Given the description of an element on the screen output the (x, y) to click on. 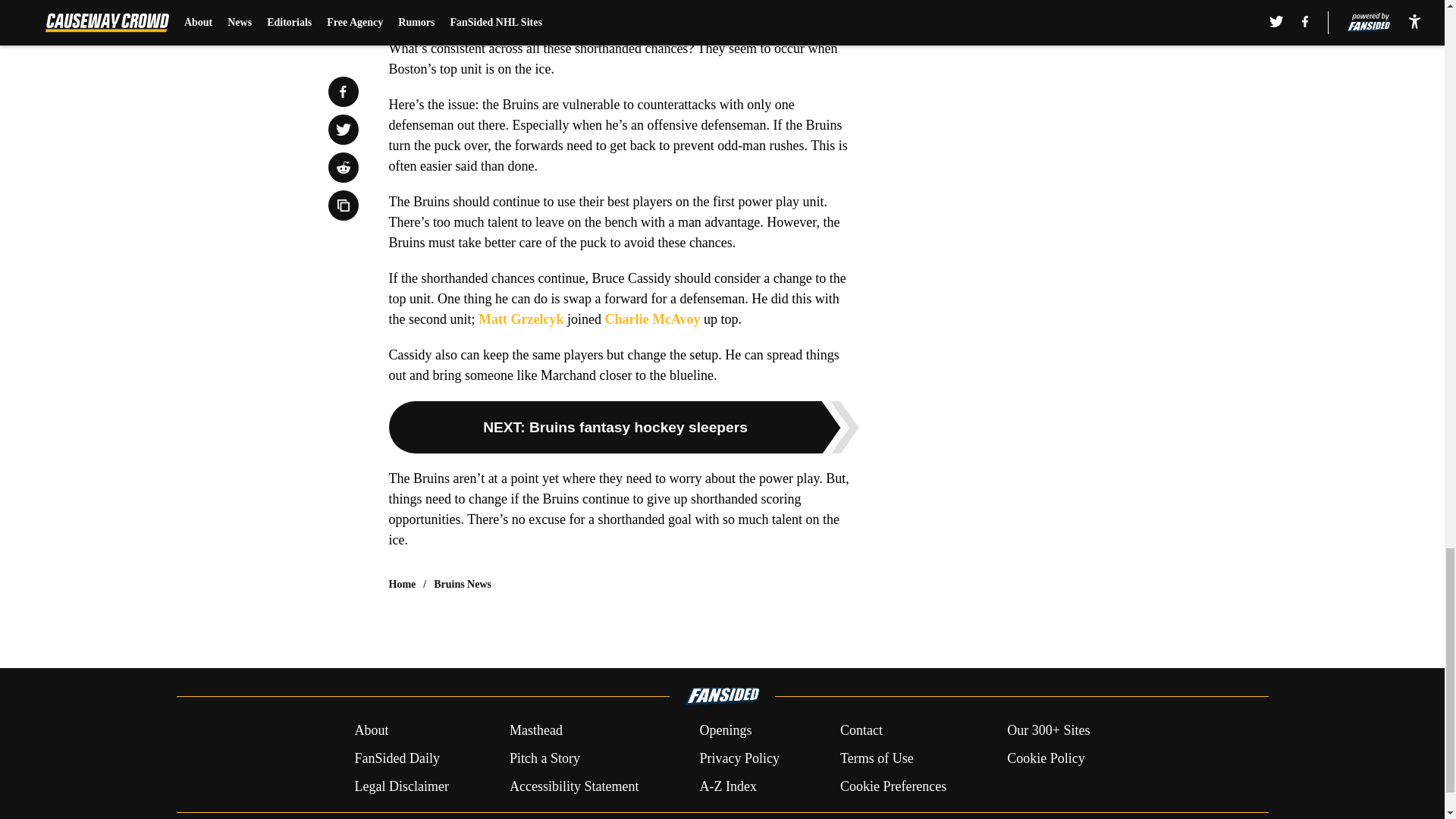
Home (401, 584)
Cookie Policy (1045, 758)
Terms of Use (877, 758)
Masthead (535, 730)
Matt Grzelcyk (521, 319)
NEXT: Bruins fantasy hockey sleepers (623, 427)
Legal Disclaimer (400, 786)
Openings (724, 730)
Pitch a Story (544, 758)
Contact (861, 730)
Privacy Policy (738, 758)
Bruins News (462, 584)
About (370, 730)
FanSided Daily (396, 758)
Charlie McAvoy (652, 319)
